Given the description of an element on the screen output the (x, y) to click on. 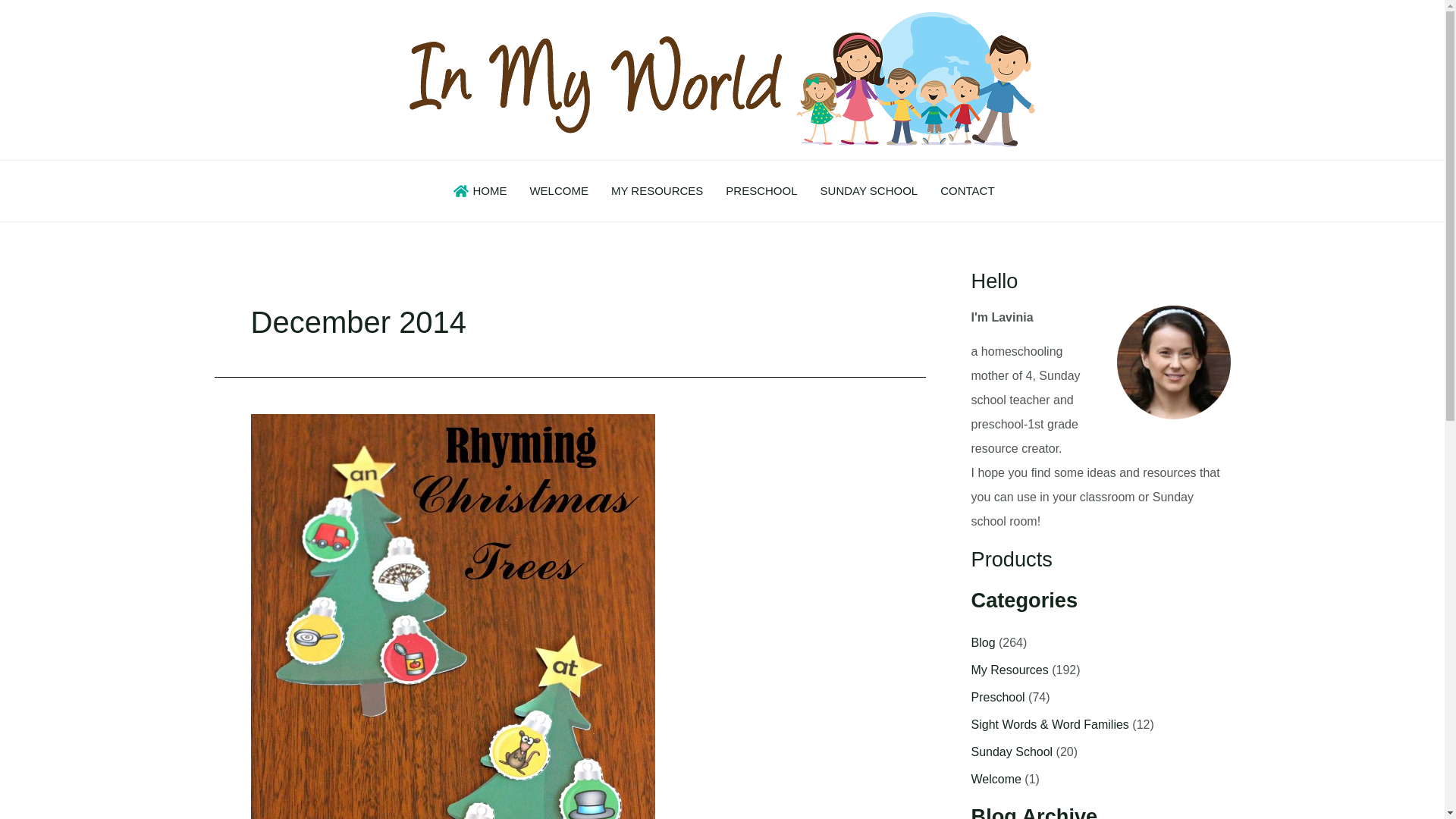
SUNDAY SCHOOL Element type: text (869, 190)
Sight Words & Word Families Element type: text (1049, 724)
Sunday School Element type: text (1011, 751)
HOME Element type: text (477, 190)
My Resources Element type: text (1009, 669)
CONTACT Element type: text (966, 190)
Preschool Element type: text (997, 696)
MY RESOURCES Element type: text (656, 190)
Welcome Element type: text (995, 778)
PRESCHOOL Element type: text (761, 190)
Blog Element type: text (982, 642)
WELCOME Element type: text (558, 190)
